Given the description of an element on the screen output the (x, y) to click on. 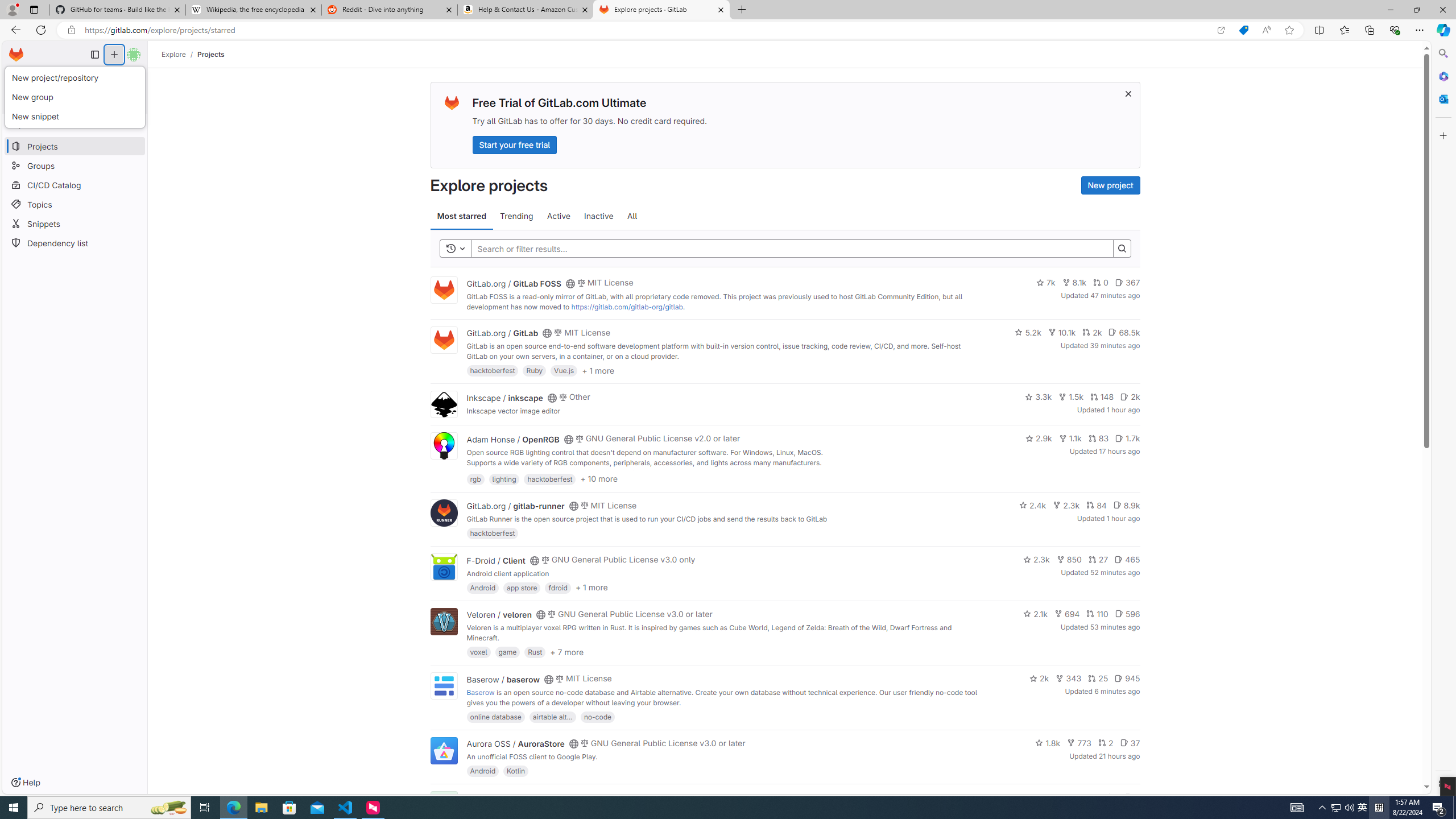
84 (1096, 504)
2 (1105, 742)
Inactive (598, 216)
68.5k (1124, 331)
2.1k (1035, 613)
Explore (173, 53)
lighting (504, 478)
Wikipedia, the free encyclopedia (253, 9)
Merge requests 0 (74, 76)
CI/CD Catalog (74, 185)
2.9k (1038, 438)
